Given the description of an element on the screen output the (x, y) to click on. 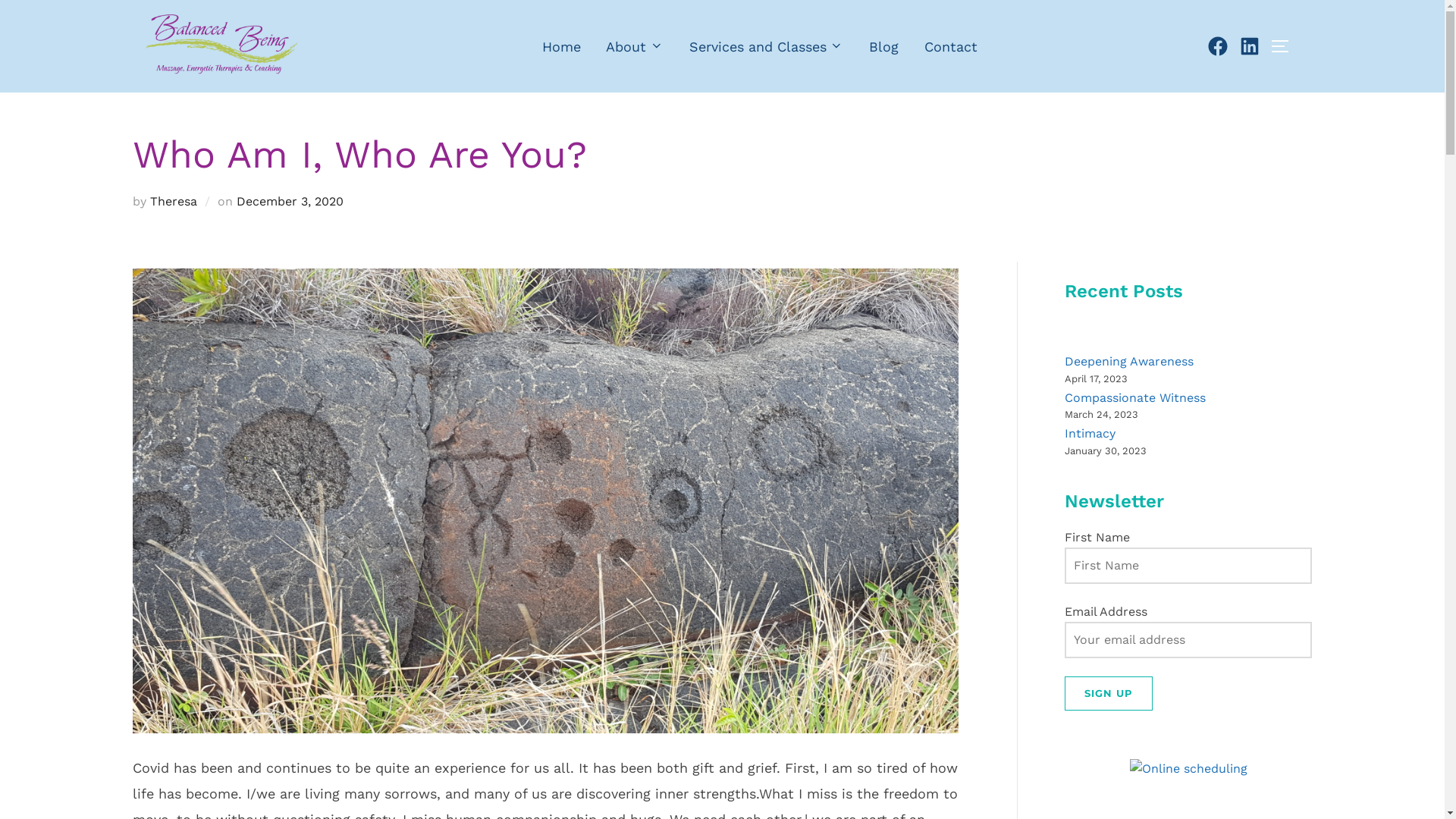
Contact Element type: text (950, 45)
Theresa Element type: text (173, 201)
Sign up Element type: text (1108, 692)
Deepening Awareness Element type: text (1128, 361)
December 3, 2020 Element type: text (289, 201)
Blog Element type: text (883, 45)
Services and Classes Element type: text (766, 45)
TOGGLE SIDEBAR & NAVIGATION Element type: text (1284, 45)
Facebook Element type: text (1217, 45)
Compassionate Witness Element type: text (1134, 397)
Online scheduling Element type: hover (1188, 768)
About Element type: text (634, 45)
Home Element type: text (561, 45)
LinkedIn Element type: text (1249, 45)
Online scheduling Element type: hover (1188, 768)
Intimacy Element type: text (1089, 433)
